Given the description of an element on the screen output the (x, y) to click on. 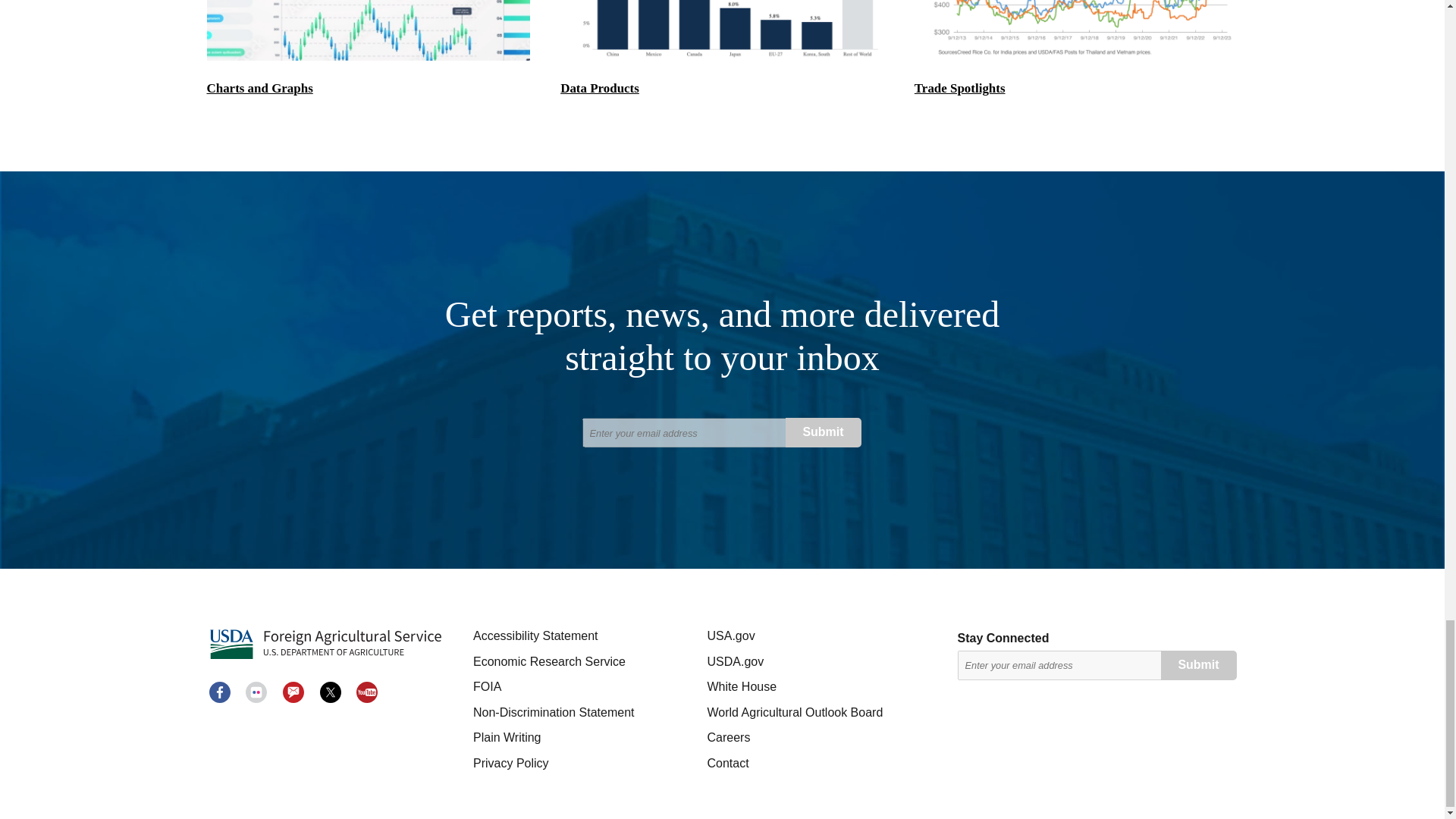
USDA Foreign Agricultural Service Home (325, 644)
Submit (823, 432)
Submit (1198, 665)
